Given the description of an element on the screen output the (x, y) to click on. 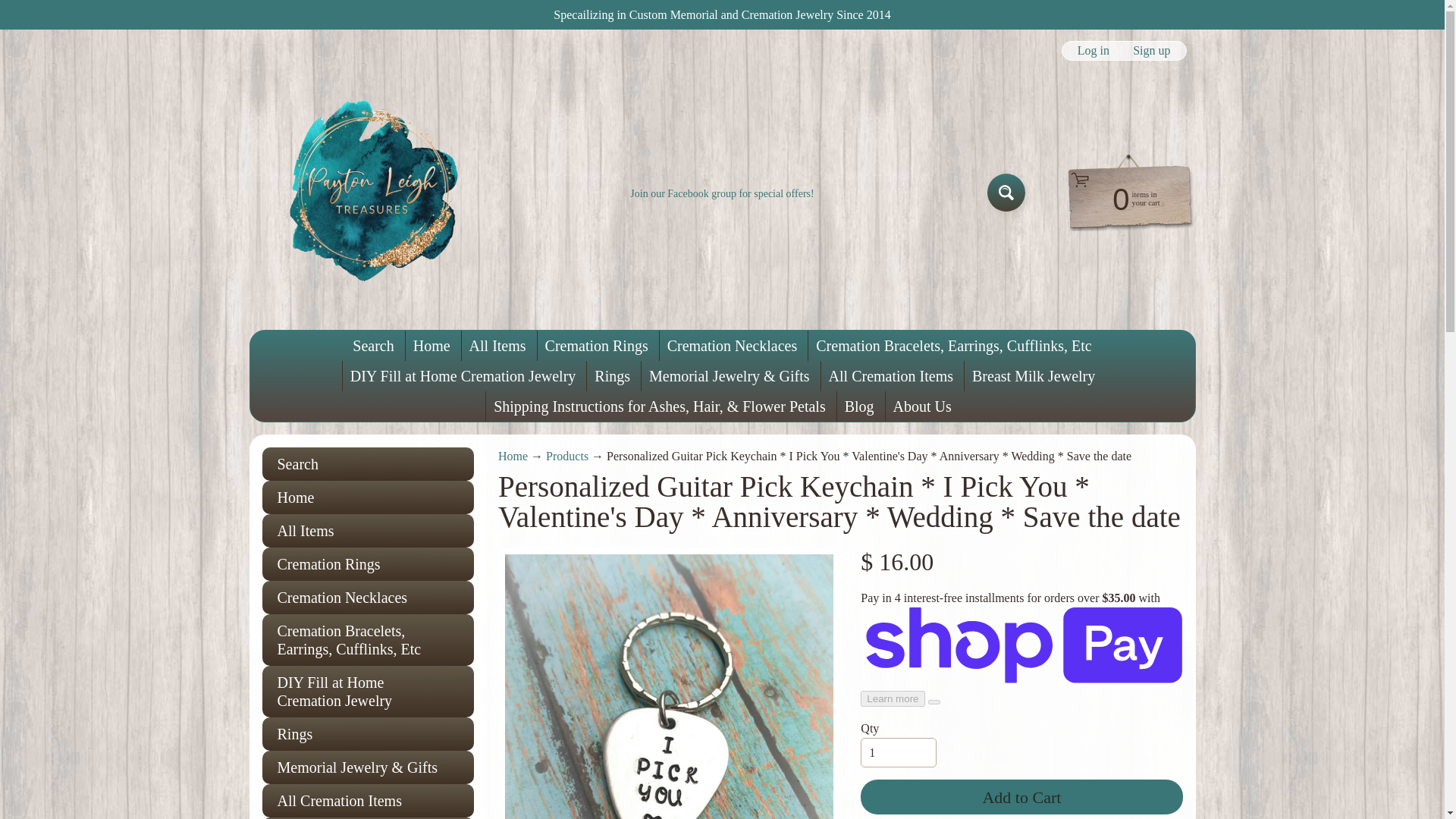
Cremation Rings (368, 390)
Share on Facebook (890, 810)
Pin on Pinterest (1019, 810)
Cremation Bracelets, Earrings, Cufflinks, Etc (368, 467)
Search (373, 173)
Search (1006, 105)
DIY Fill at Home Cremation Jewelry (368, 518)
Cremation Necklaces (732, 173)
Join our Facebook group for special offers! (721, 107)
Cremation Bracelets, Earrings, Cufflinks, Etc (953, 173)
Tweet on Twitter (954, 810)
Search (368, 290)
Breast Milk Jewelry (1032, 203)
Rings (368, 561)
Payton Leigh Treasures  (311, 109)
